Given the description of an element on the screen output the (x, y) to click on. 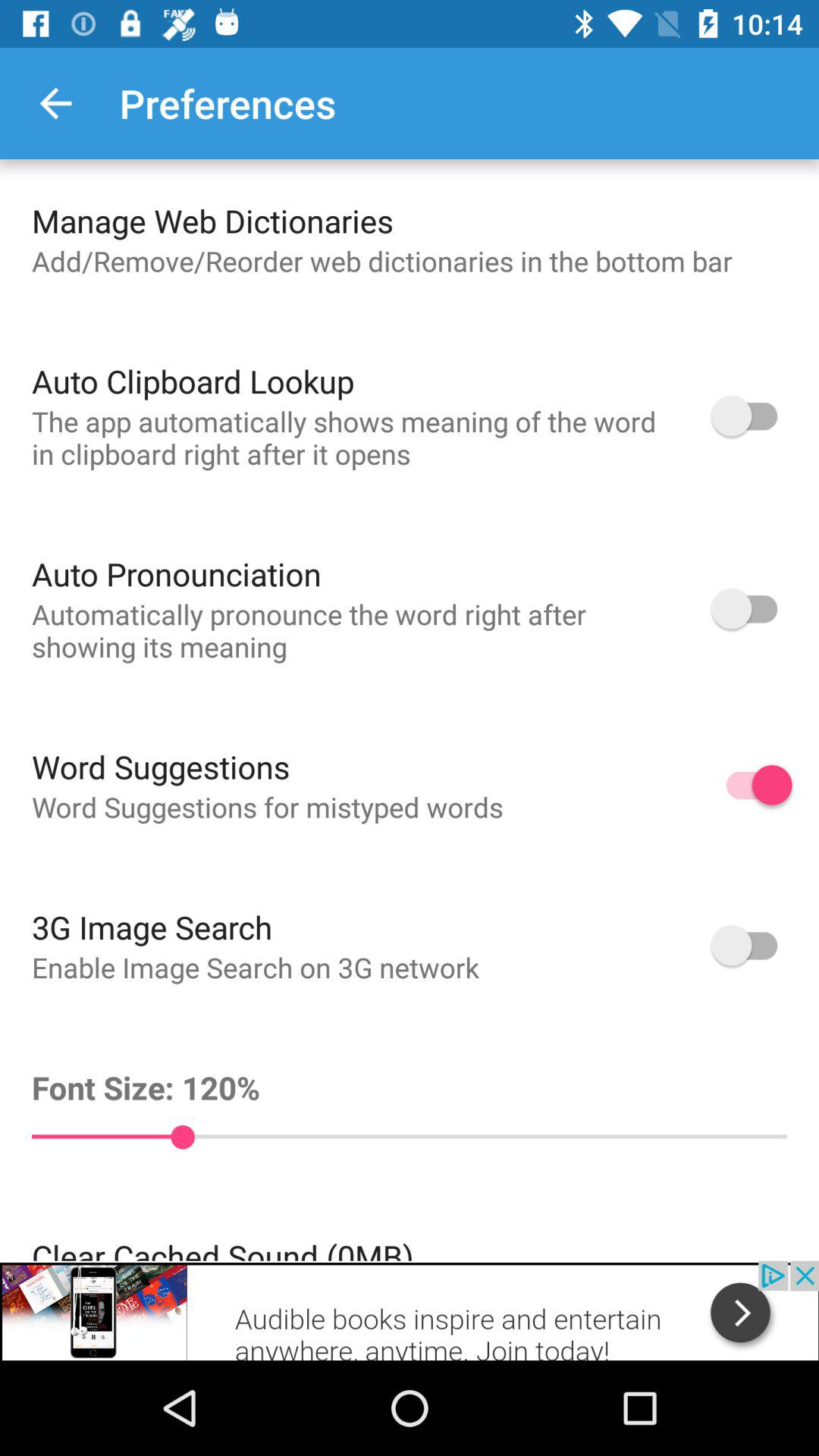
tag the auto play (751, 945)
